Given the description of an element on the screen output the (x, y) to click on. 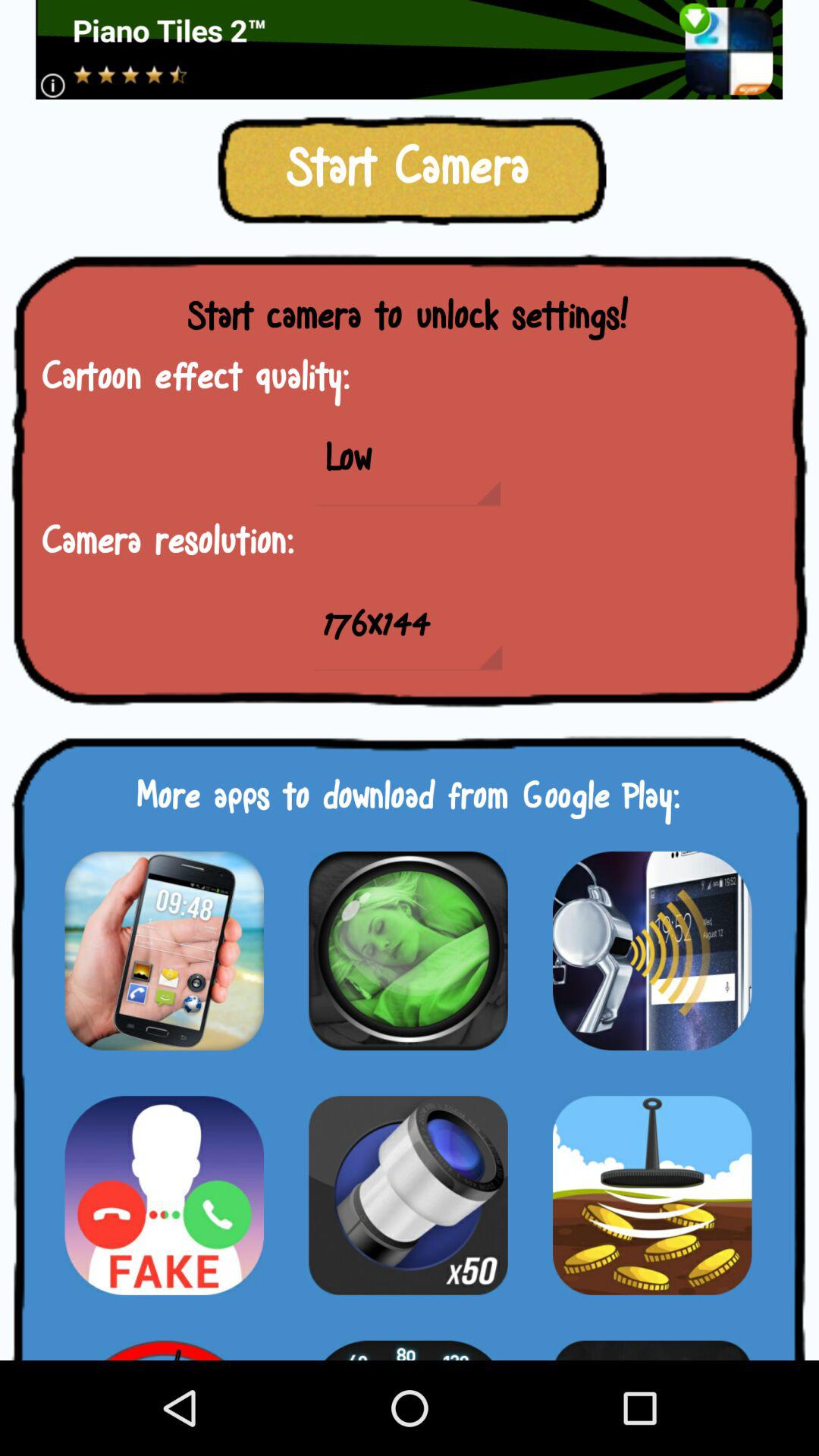
go to app page (164, 1195)
